Given the description of an element on the screen output the (x, y) to click on. 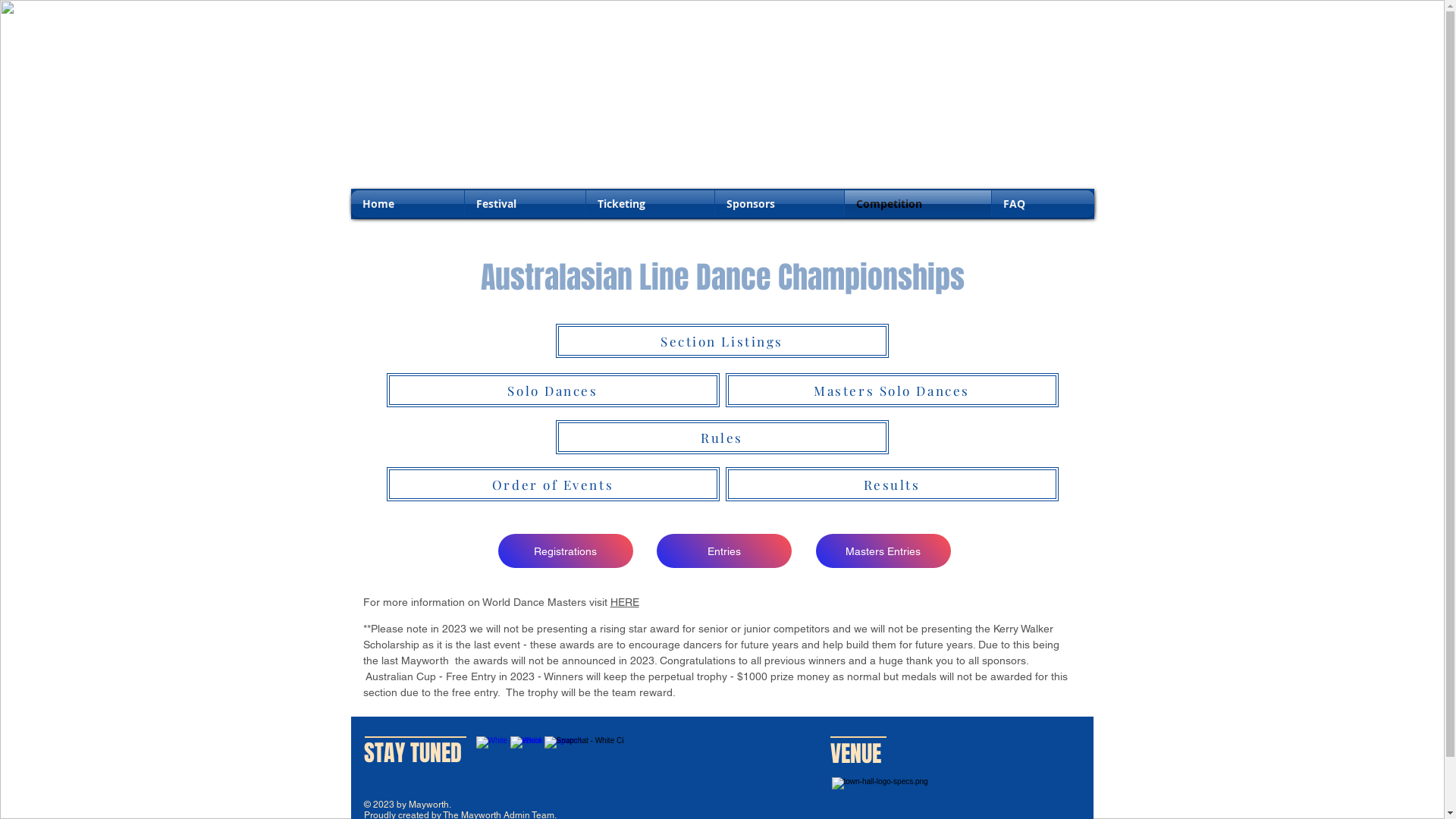
HERE Element type: text (623, 602)
Ticketing Element type: text (649, 203)
Sponsors Element type: text (778, 203)
Solo Dances Element type: text (552, 390)
Section Listings Element type: text (721, 340)
Entries Element type: text (723, 550)
Registrations Element type: text (564, 550)
Order of Events Element type: text (552, 484)
Masters Solo Dances Element type: text (890, 390)
Masters Entries Element type: text (882, 550)
Rules Element type: text (721, 437)
Festival Element type: text (524, 203)
Home Element type: text (406, 203)
Results Element type: text (890, 484)
Competition Element type: text (917, 203)
FAQ Element type: text (1042, 203)
